Given the description of an element on the screen output the (x, y) to click on. 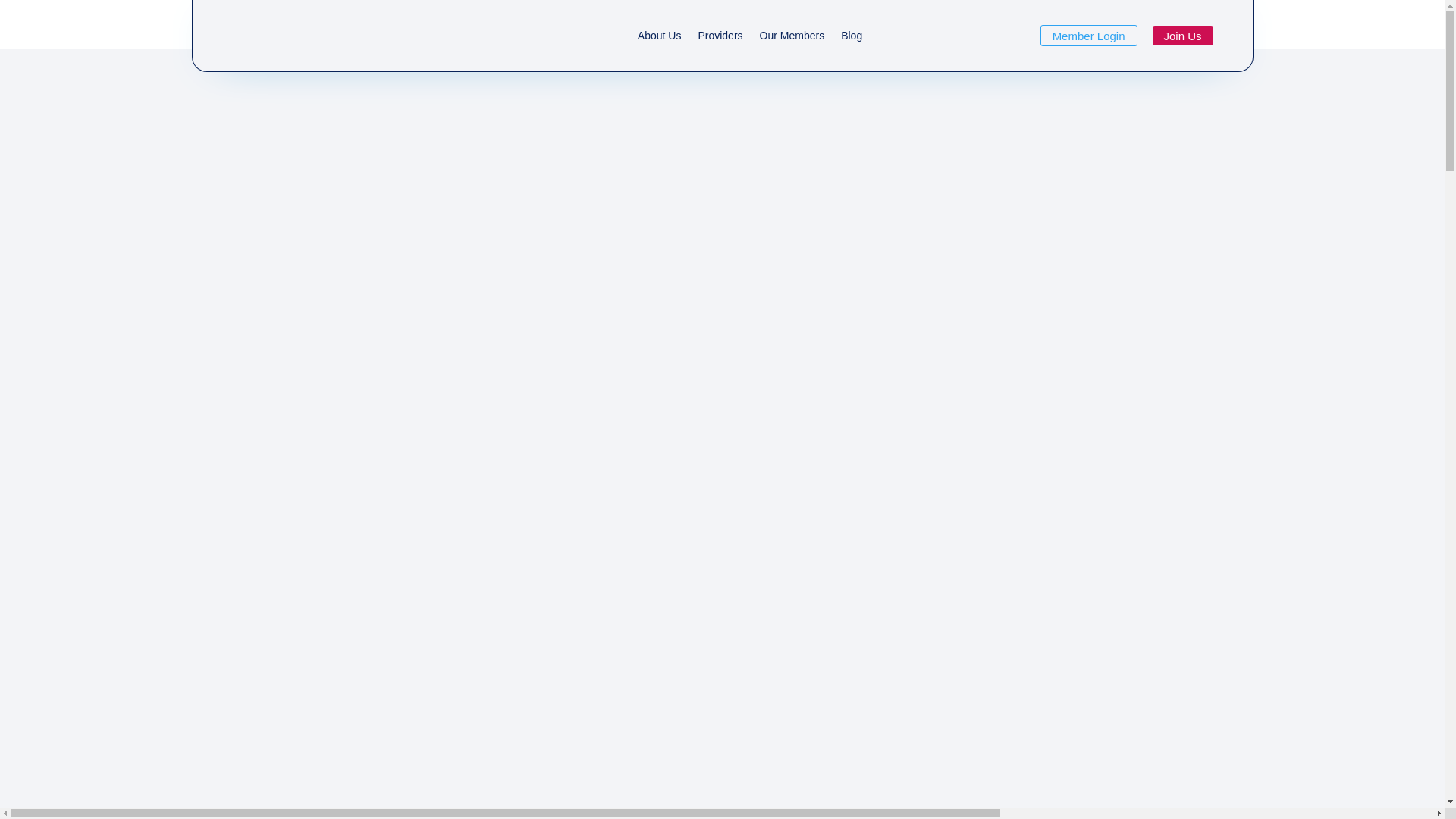
Join Us Element type: text (1182, 35)
About Us Element type: text (659, 38)
Blog Element type: text (851, 38)
Our Members Element type: text (792, 38)
Providers Element type: text (719, 38)
Member Login Element type: text (1088, 35)
